Given the description of an element on the screen output the (x, y) to click on. 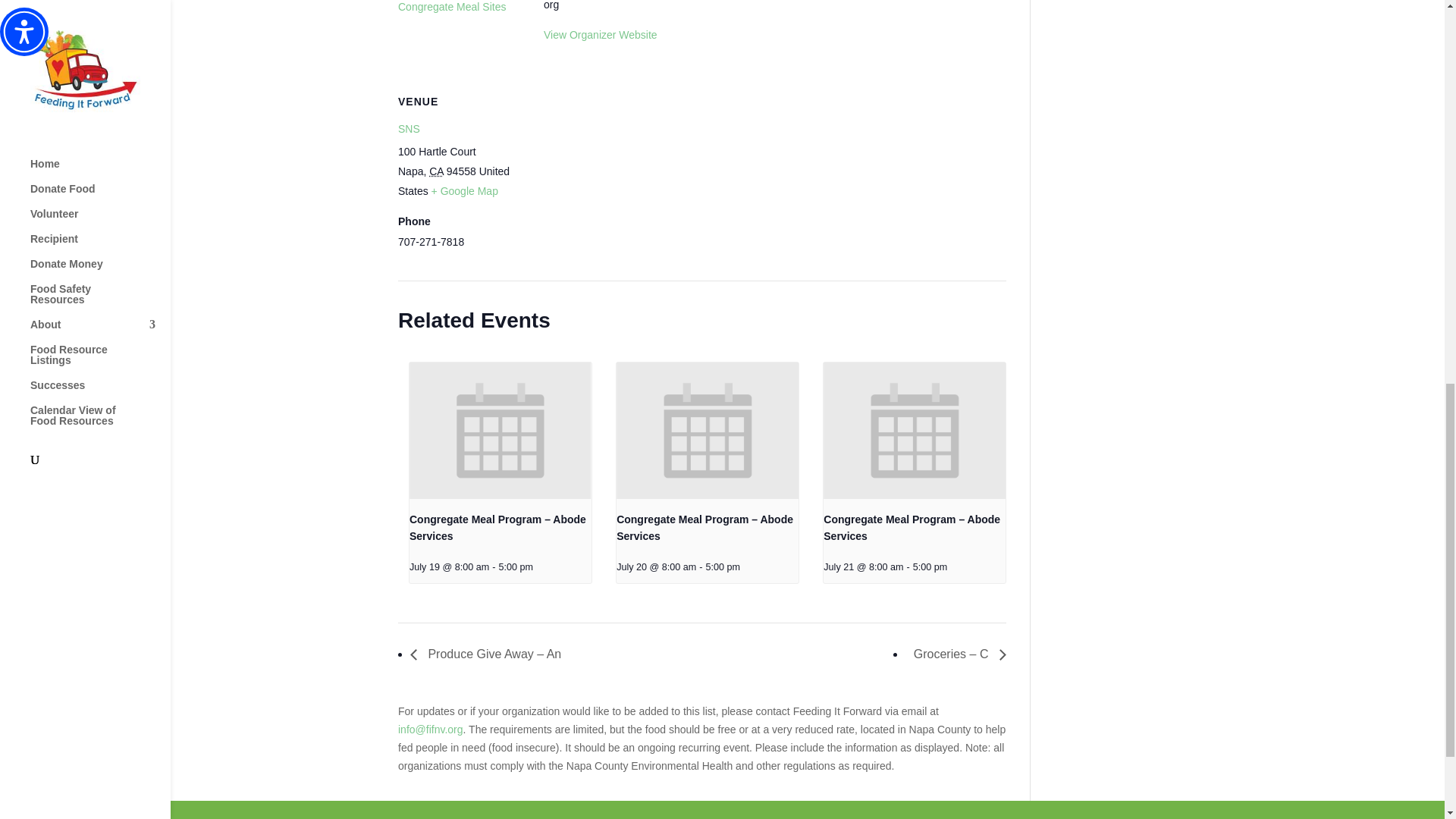
Click to view a Google Map (463, 191)
Google maps iframe displaying the address to SNS (623, 176)
California (436, 171)
Congregate Meal Sites (451, 6)
